Given the description of an element on the screen output the (x, y) to click on. 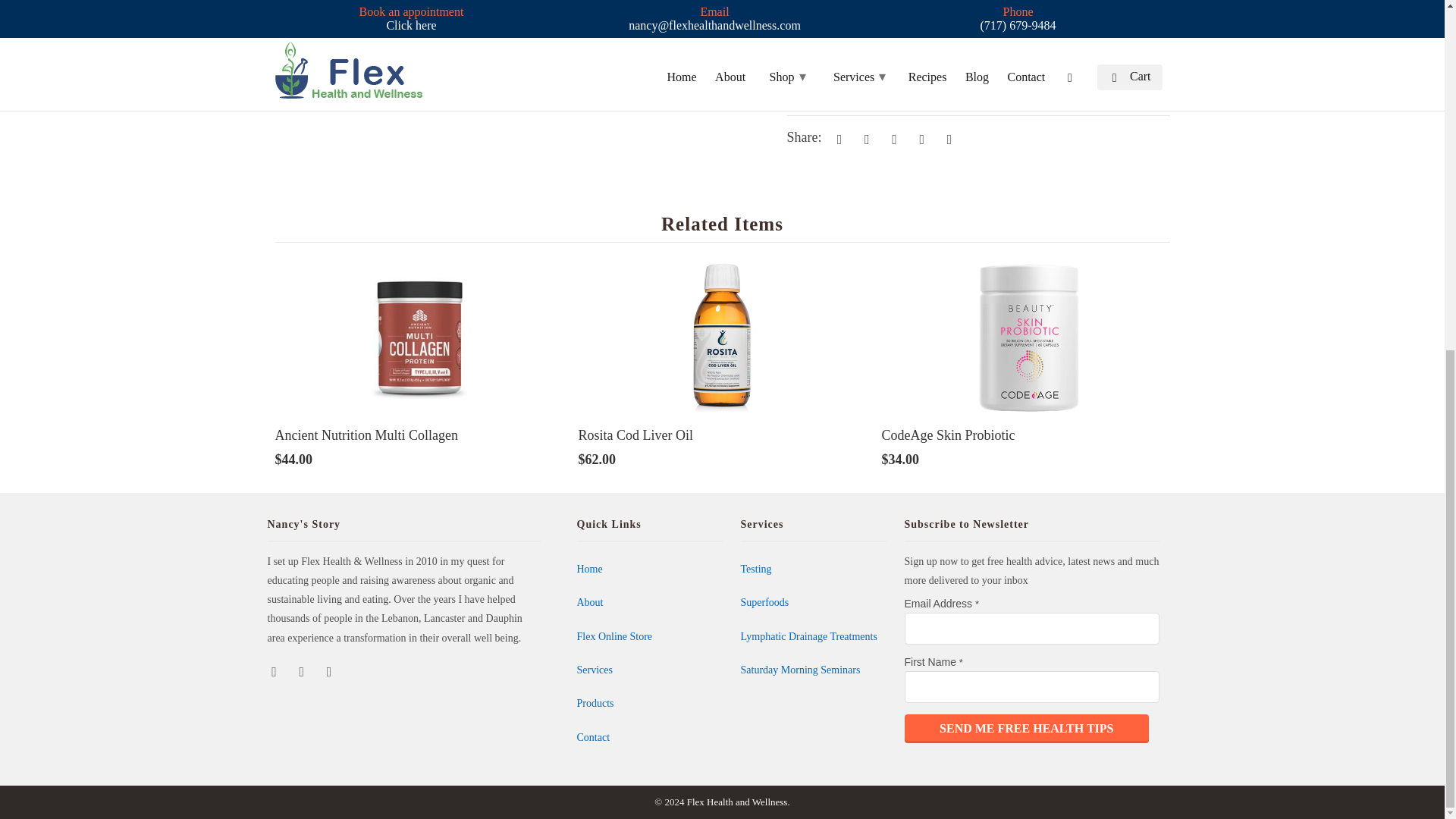
Share this on Pinterest (892, 138)
ADD TO CART (895, 77)
Flex Health and Wellness on LinkedIn (330, 670)
Flex Health and Wellness on Pinterest (303, 670)
Share this on Twitter (836, 138)
Send Me Free Health Tips (1026, 728)
Email this to a friend (946, 138)
Flex Health and Wellness on Facebook (274, 670)
1 (805, 81)
Share this on Facebook (863, 138)
